Given the description of an element on the screen output the (x, y) to click on. 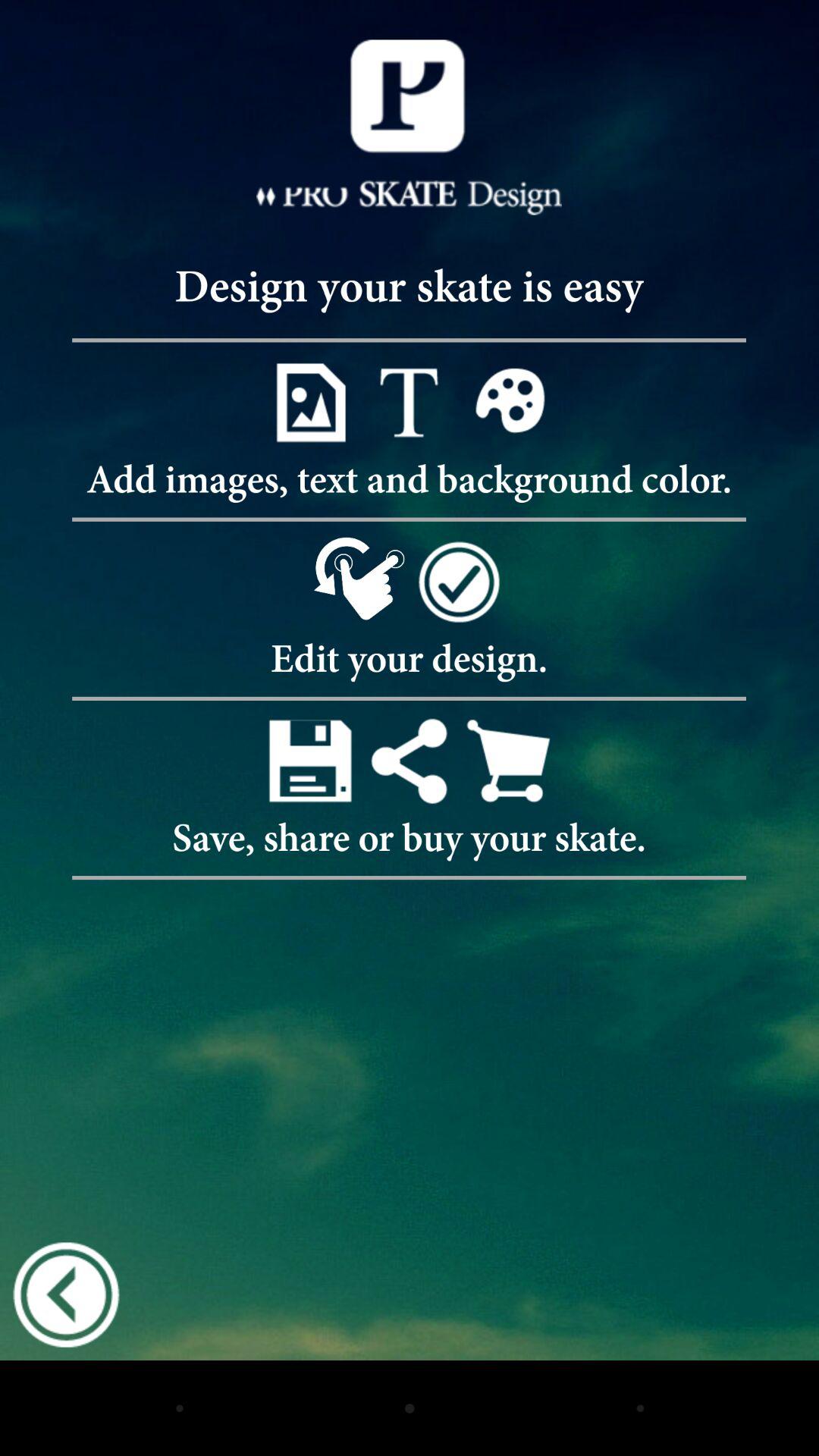
go back (66, 1293)
